Given the description of an element on the screen output the (x, y) to click on. 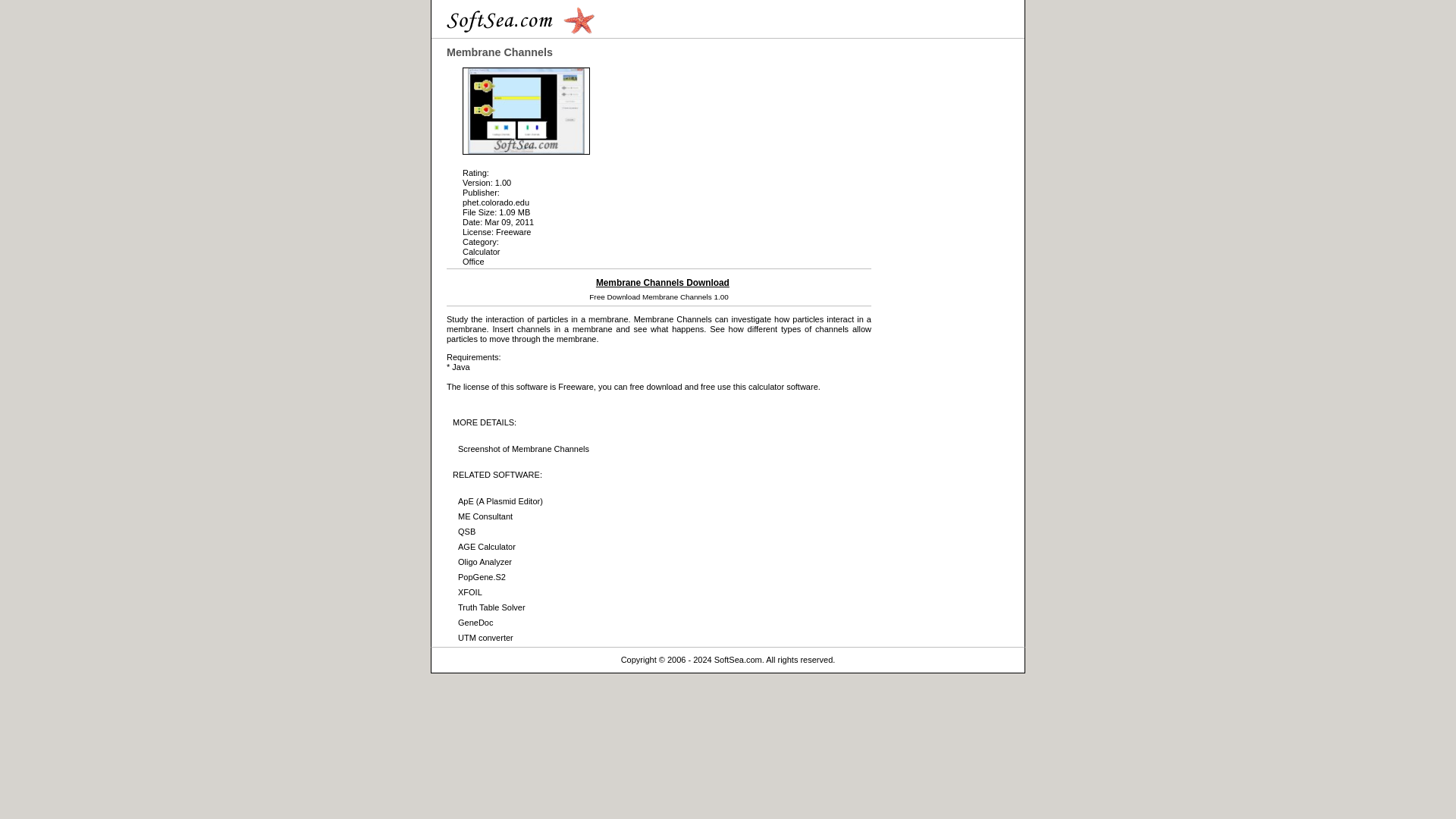
Membrane Channels Download (662, 282)
ME Consultant (485, 515)
Screenshot of Membrane Channels (523, 448)
PopGene.S2 (481, 576)
Oligo Analyzer (485, 561)
QSB (467, 531)
GeneDoc (475, 622)
AGE Calculator (486, 546)
Truth Table Solver (491, 606)
XFOIL (469, 592)
